Given the description of an element on the screen output the (x, y) to click on. 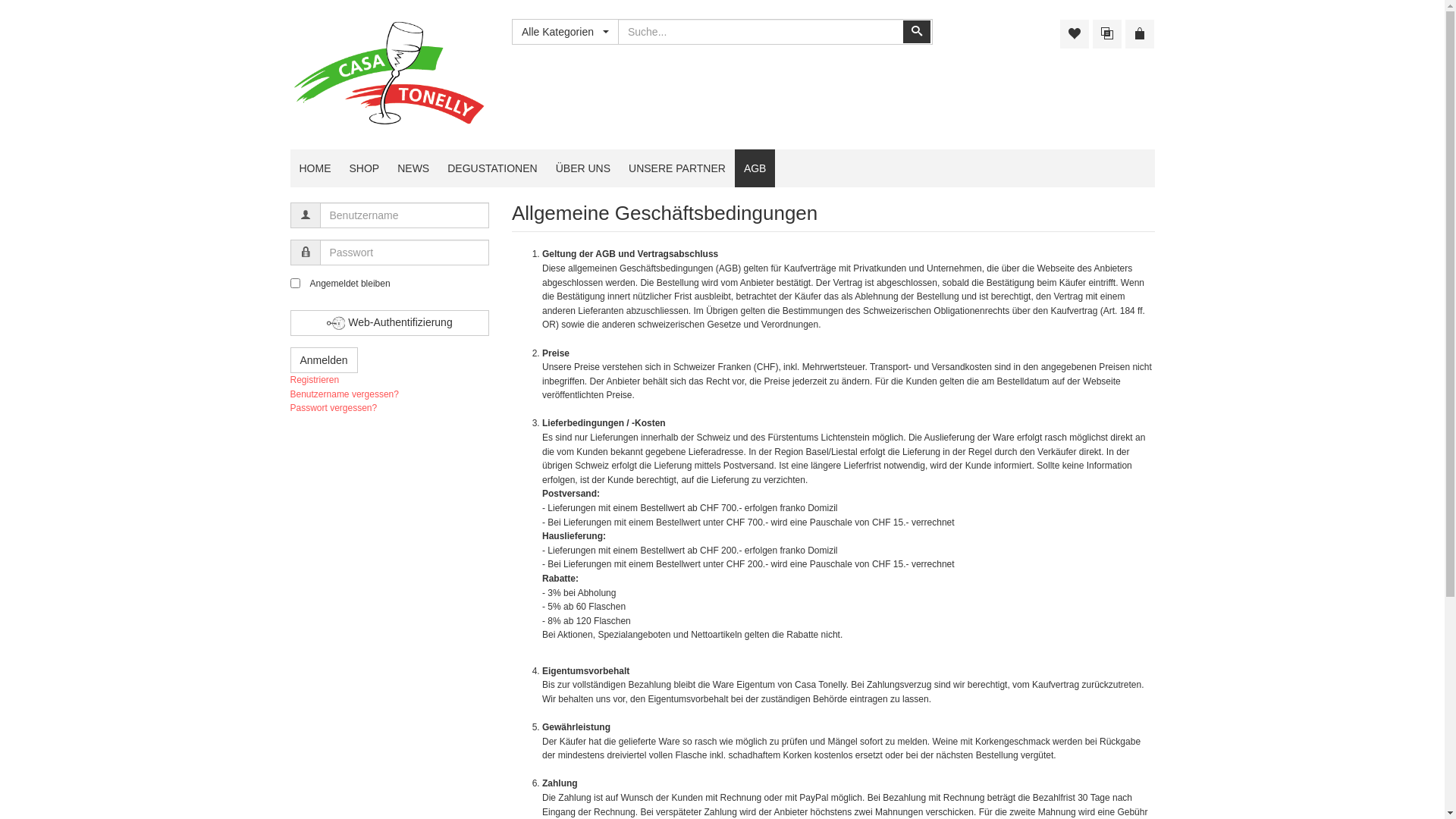
Registrieren Element type: text (313, 379)
Anmelden Element type: text (323, 360)
Benutzername vergessen? Element type: text (343, 394)
NEWS Element type: text (413, 168)
HOME Element type: text (314, 168)
AGB Element type: text (754, 168)
Suchen Element type: text (916, 31)
DEGUSTATIONEN Element type: text (492, 168)
Passwort vergessen? Element type: text (332, 407)
Web-Authentifizierung Element type: text (389, 323)
SHOP Element type: text (363, 168)
UNSERE PARTNER Element type: text (676, 168)
Alle Kategorien
  Element type: text (564, 31)
